Given the description of an element on the screen output the (x, y) to click on. 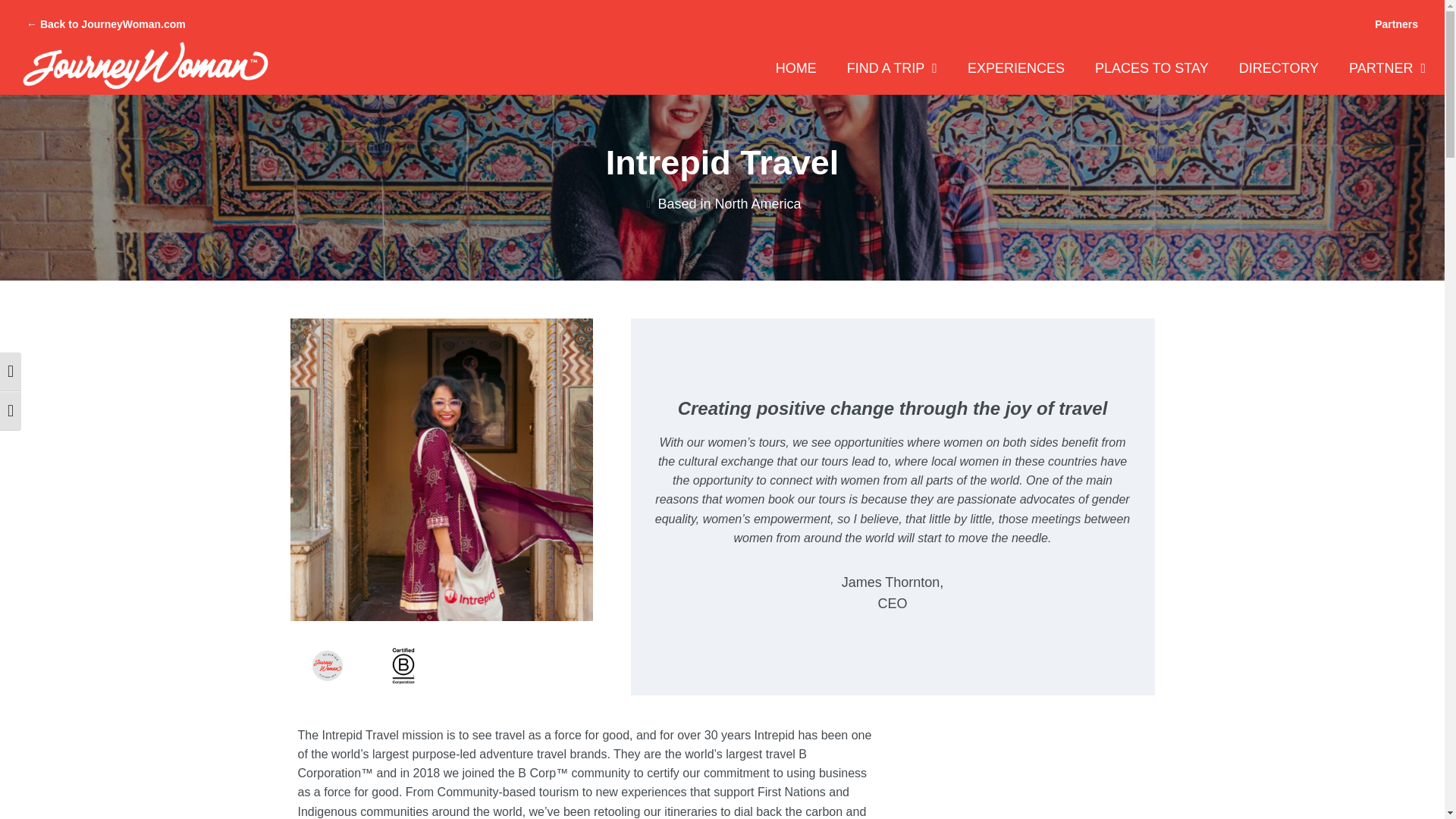
EXPERIENCES (1016, 67)
Partners (1396, 24)
North America (757, 203)
FIND A TRIP (892, 67)
PARTNER (1387, 67)
PLACES TO STAY (1151, 67)
DIRECTORY (1279, 67)
HOME (796, 67)
